Given the description of an element on the screen output the (x, y) to click on. 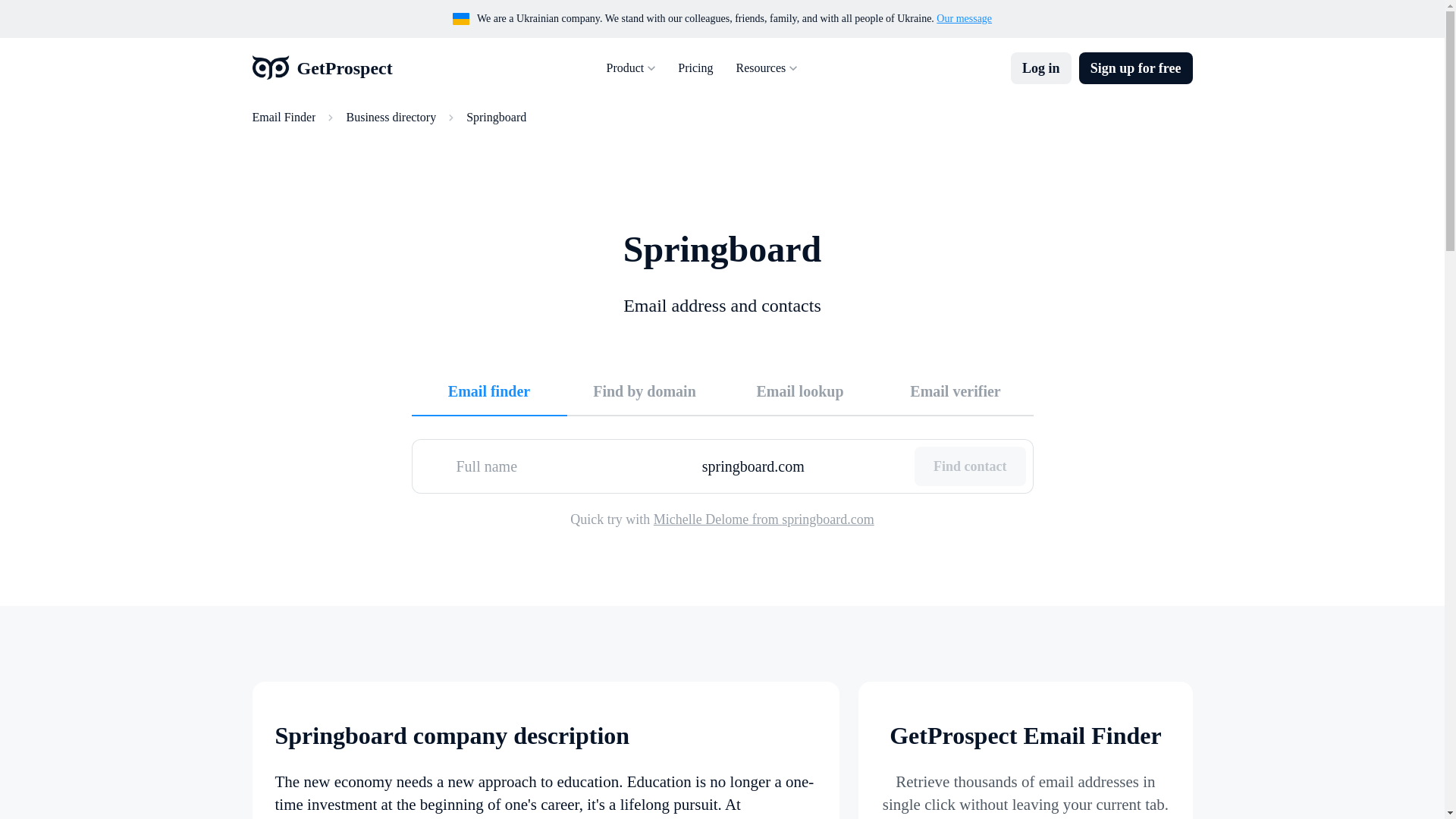
Log in (1040, 68)
springboard.com (801, 466)
Email verifier (955, 390)
Find by domain (644, 390)
Email Finder (283, 117)
Business directory (390, 117)
Our message (963, 18)
GetProspect (321, 68)
Email lookup (799, 390)
springboard.com (801, 466)
Email finder (488, 390)
Pricing (694, 68)
Find contact (970, 466)
Sign up for free (1135, 68)
